Given the description of an element on the screen output the (x, y) to click on. 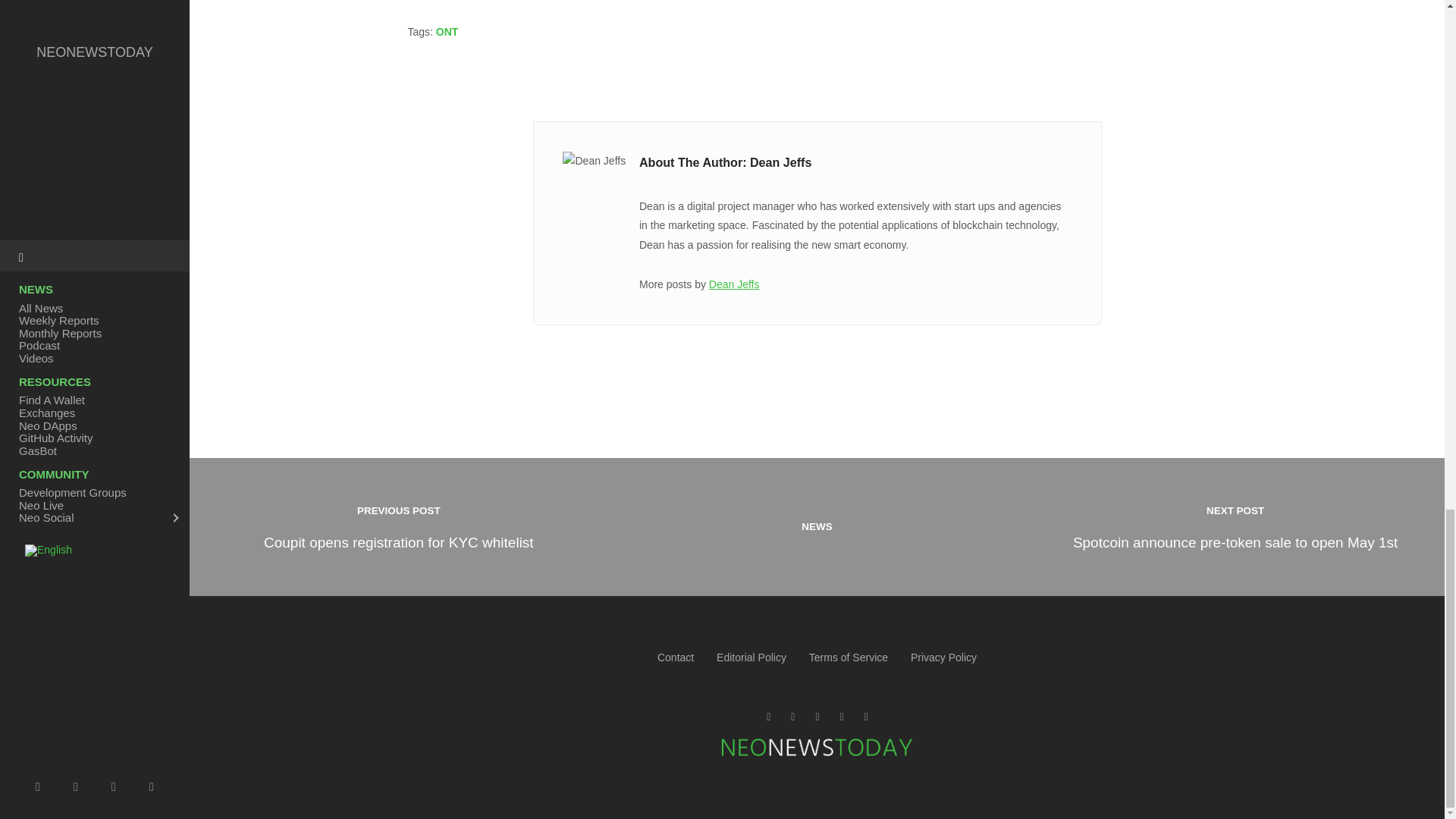
ONT (446, 31)
NEWS (817, 526)
Dean Jeffs (734, 284)
Posts by Dean Jeffs (398, 526)
